Given the description of an element on the screen output the (x, y) to click on. 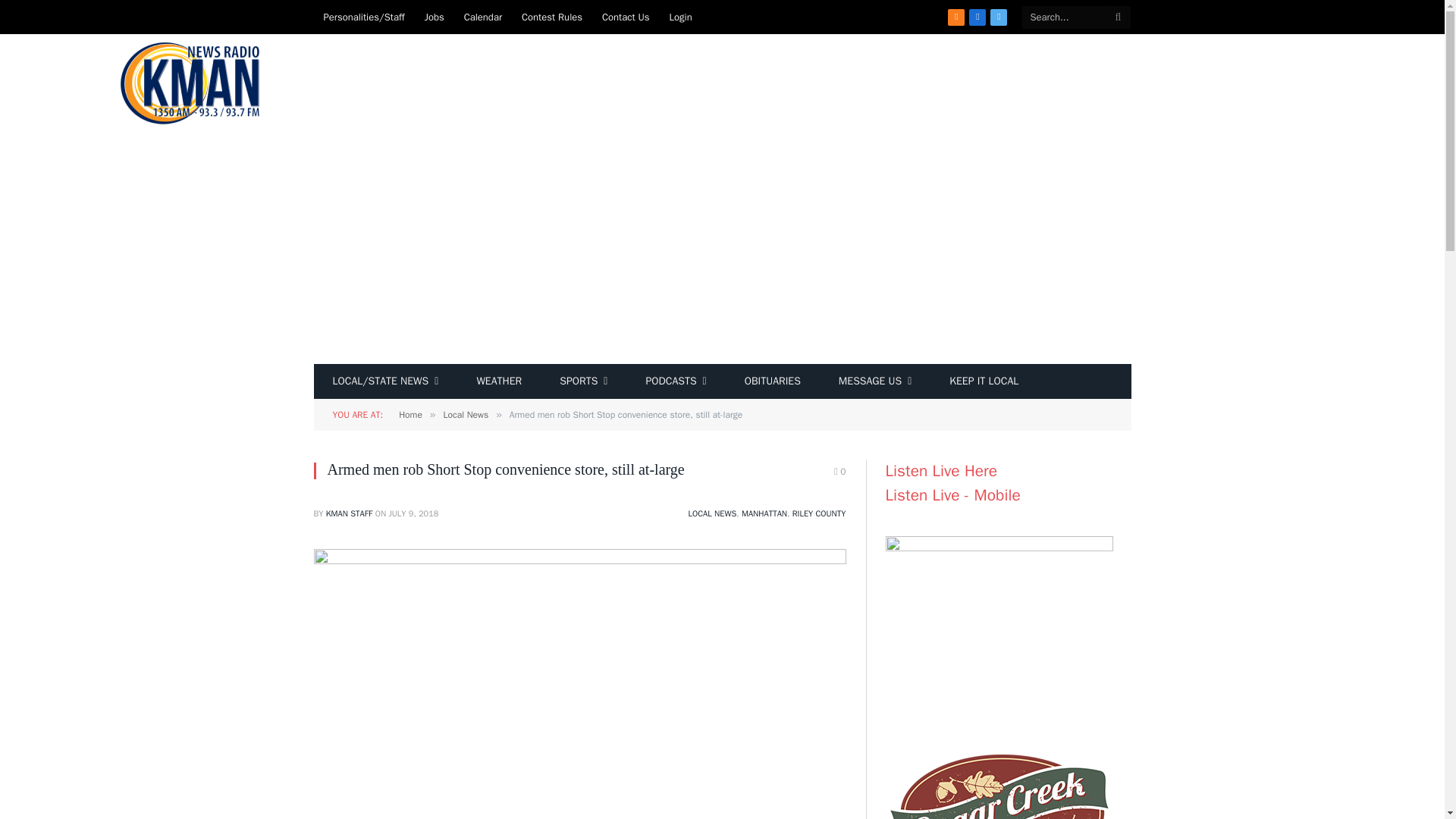
2018-07-09 (413, 512)
Armed men rob Short Stop convenience store, still at-large (579, 560)
SPORTS (583, 380)
Calendar (483, 17)
RSS (955, 17)
WEATHER (498, 380)
Posts by KMAN Staff (349, 512)
Login (680, 17)
Jobs (434, 17)
Contact Us (625, 17)
Facebook (977, 17)
Contest Rules (552, 17)
